Given the description of an element on the screen output the (x, y) to click on. 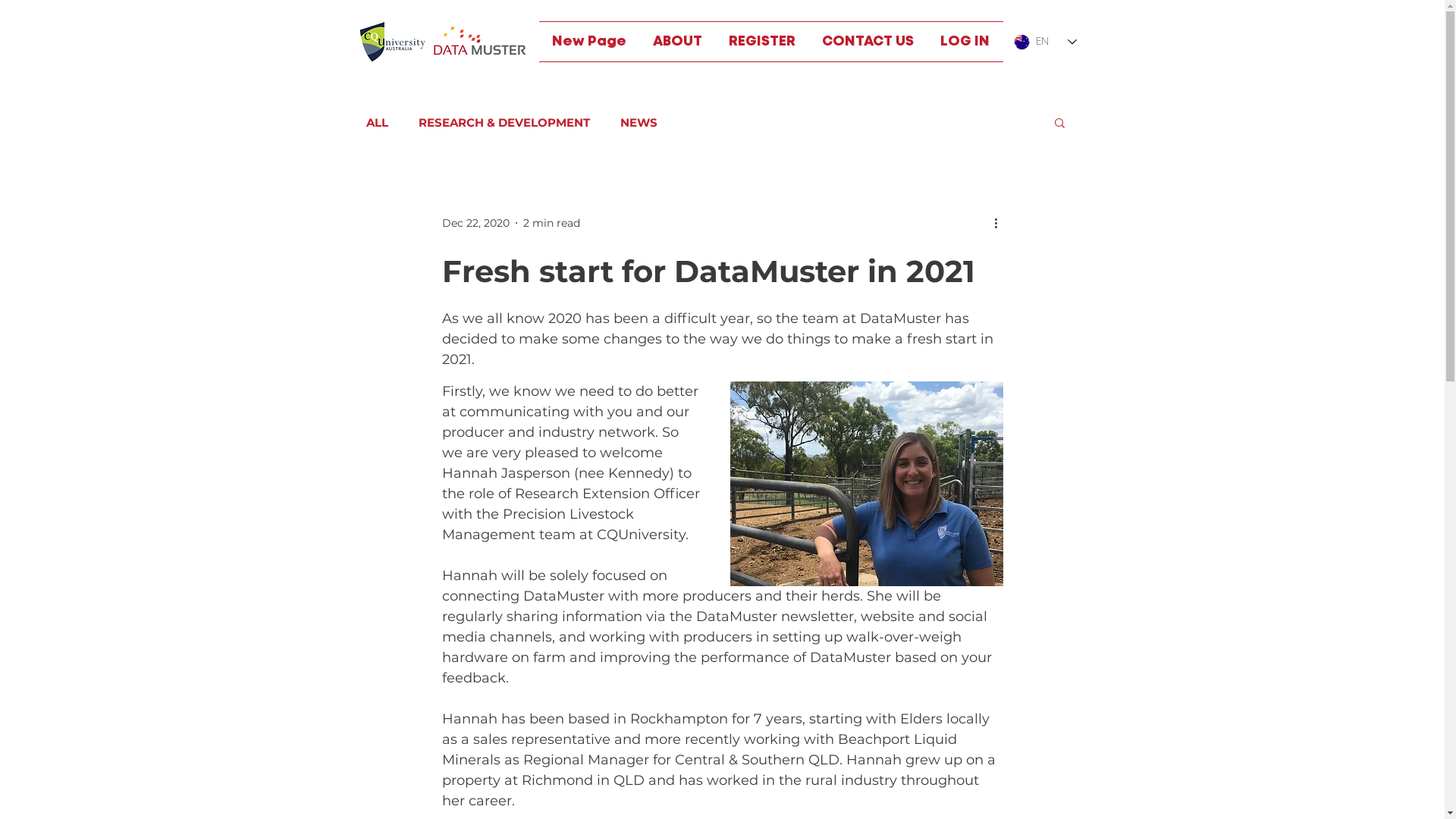
New Page Element type: text (588, 41)
REGISTER Element type: text (762, 41)
RESEARCH & DEVELOPMENT Element type: text (503, 122)
CONTACT US Element type: text (867, 41)
NEWS Element type: text (638, 122)
LOG IN Element type: text (964, 41)
ALL Element type: text (376, 122)
ABOUT Element type: text (677, 41)
